Given the description of an element on the screen output the (x, y) to click on. 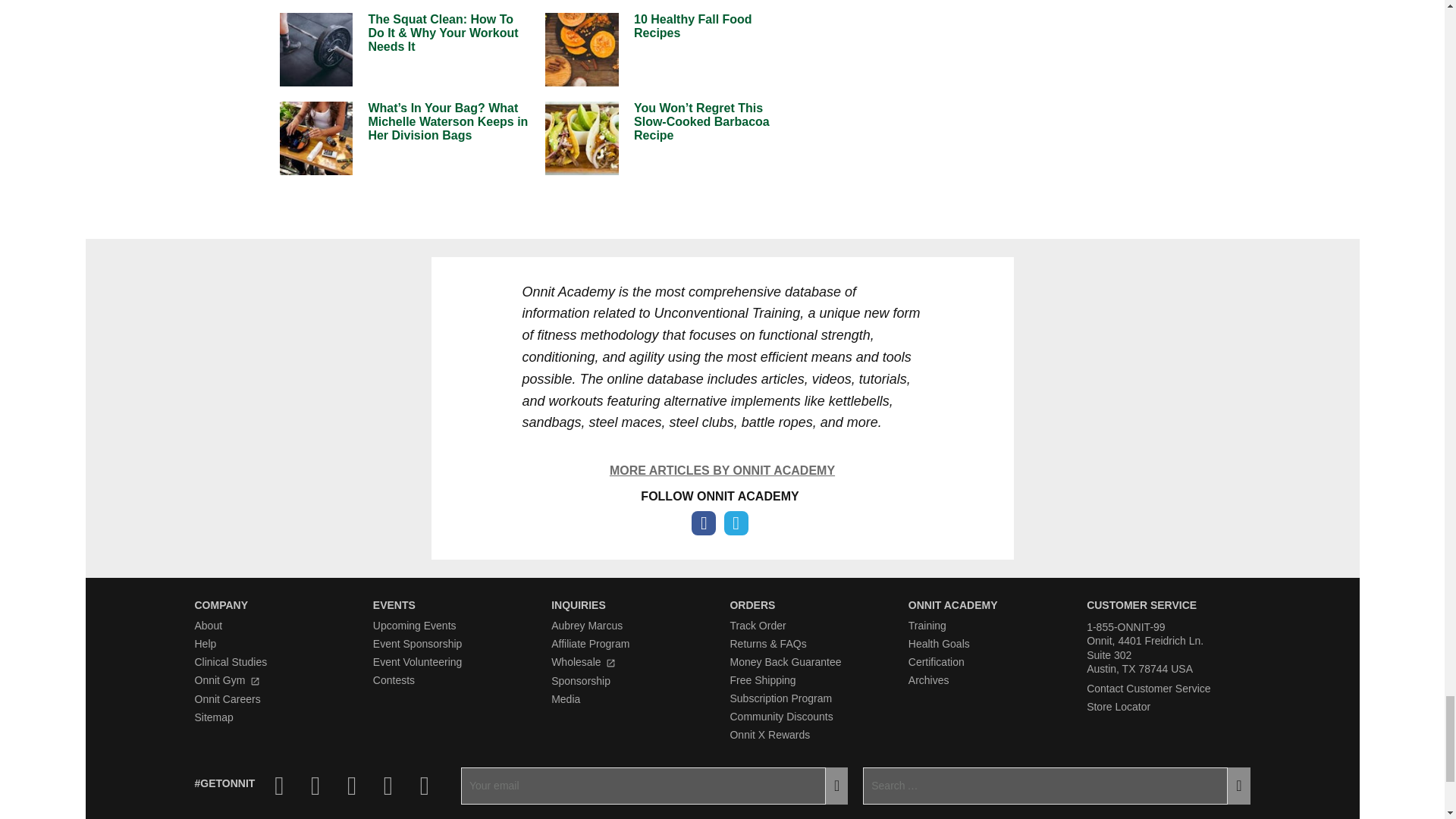
Opens in new window. (255, 681)
Opens in new window. (610, 663)
